Given the description of an element on the screen output the (x, y) to click on. 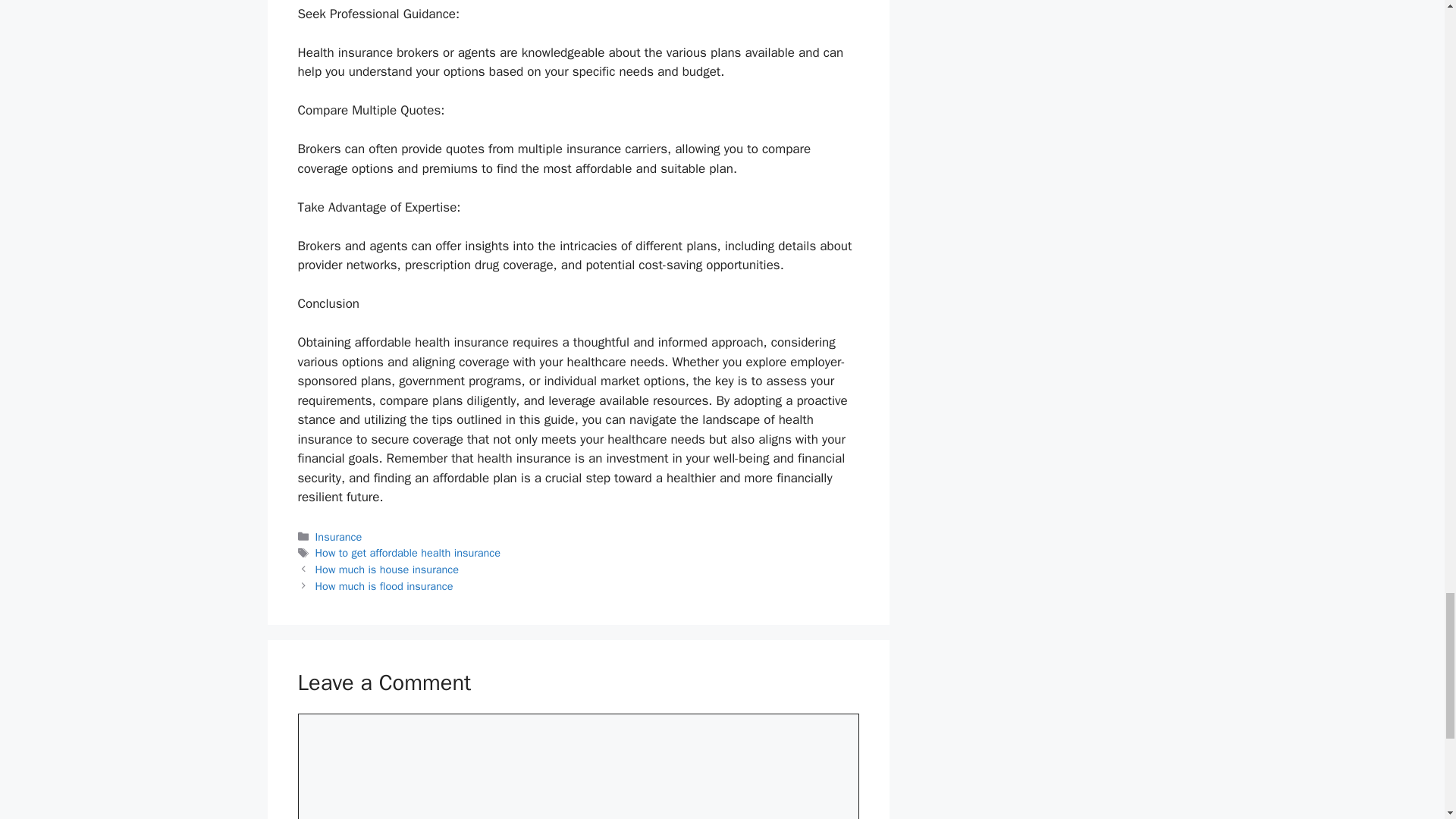
Insurance (338, 536)
How to get affordable health insurance (407, 552)
How much is flood insurance (383, 585)
How much is house insurance (386, 569)
